Given the description of an element on the screen output the (x, y) to click on. 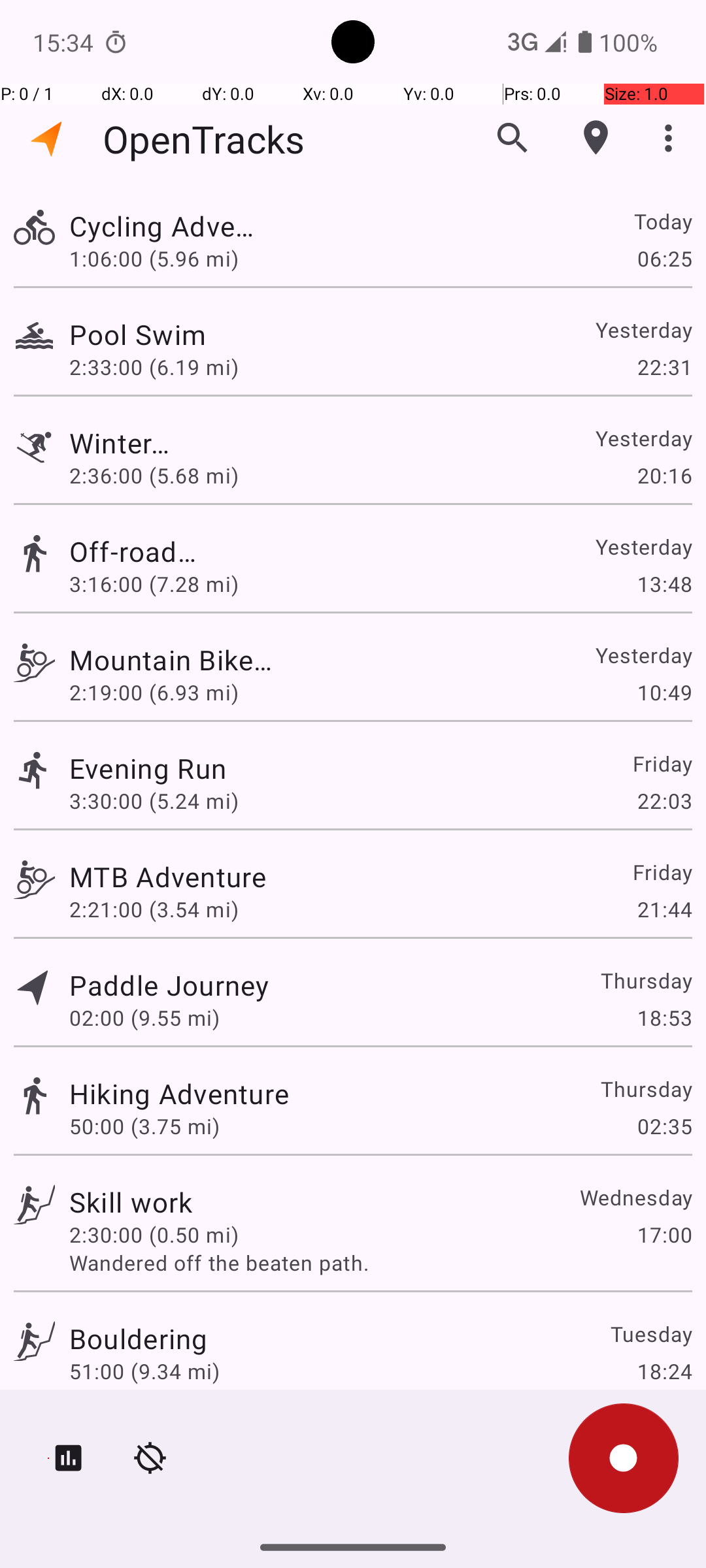
Cycling Adventure Element type: android.widget.TextView (168, 225)
1:06:00 (5.96 mi) Element type: android.widget.TextView (153, 258)
06:25 Element type: android.widget.TextView (664, 258)
Pool Swim Element type: android.widget.TextView (178, 333)
Yesterday Element type: android.widget.TextView (643, 329)
2:33:00 (6.19 mi) Element type: android.widget.TextView (153, 366)
22:31 Element type: android.widget.TextView (664, 366)
Winter Skiing Element type: android.widget.TextView (130, 442)
2:36:00 (5.68 mi) Element type: android.widget.TextView (153, 475)
20:16 Element type: android.widget.TextView (664, 475)
Off-road Hike Element type: android.widget.TextView (138, 550)
3:16:00 (7.28 mi) Element type: android.widget.TextView (153, 583)
13:48 Element type: android.widget.TextView (664, 583)
Mountain Bike Expedition Element type: android.widget.TextView (170, 659)
2:19:00 (6.93 mi) Element type: android.widget.TextView (153, 692)
10:49 Element type: android.widget.TextView (664, 692)
Evening Run Element type: android.widget.TextView (147, 767)
Friday Element type: android.widget.TextView (661, 763)
3:30:00 (5.24 mi) Element type: android.widget.TextView (153, 800)
22:03 Element type: android.widget.TextView (664, 800)
MTB Adventure Element type: android.widget.TextView (167, 876)
2:21:00 (3.54 mi) Element type: android.widget.TextView (153, 909)
21:44 Element type: android.widget.TextView (664, 909)
Paddle Journey Element type: android.widget.TextView (168, 984)
Thursday Element type: android.widget.TextView (645, 980)
02:00 (9.55 mi) Element type: android.widget.TextView (144, 1017)
18:53 Element type: android.widget.TextView (664, 1017)
Hiking Adventure Element type: android.widget.TextView (178, 1092)
50:00 (3.75 mi) Element type: android.widget.TextView (144, 1125)
02:35 Element type: android.widget.TextView (664, 1125)
Skill work Element type: android.widget.TextView (130, 1201)
Wednesday Element type: android.widget.TextView (635, 1197)
2:30:00 (0.50 mi) Element type: android.widget.TextView (153, 1234)
Wandered off the beaten path. Element type: android.widget.TextView (380, 1262)
Bouldering Element type: android.widget.TextView (138, 1337)
Tuesday Element type: android.widget.TextView (650, 1333)
51:00 (9.34 mi) Element type: android.widget.TextView (144, 1370)
18:24 Element type: android.widget.TextView (664, 1370)
